Given the description of an element on the screen output the (x, y) to click on. 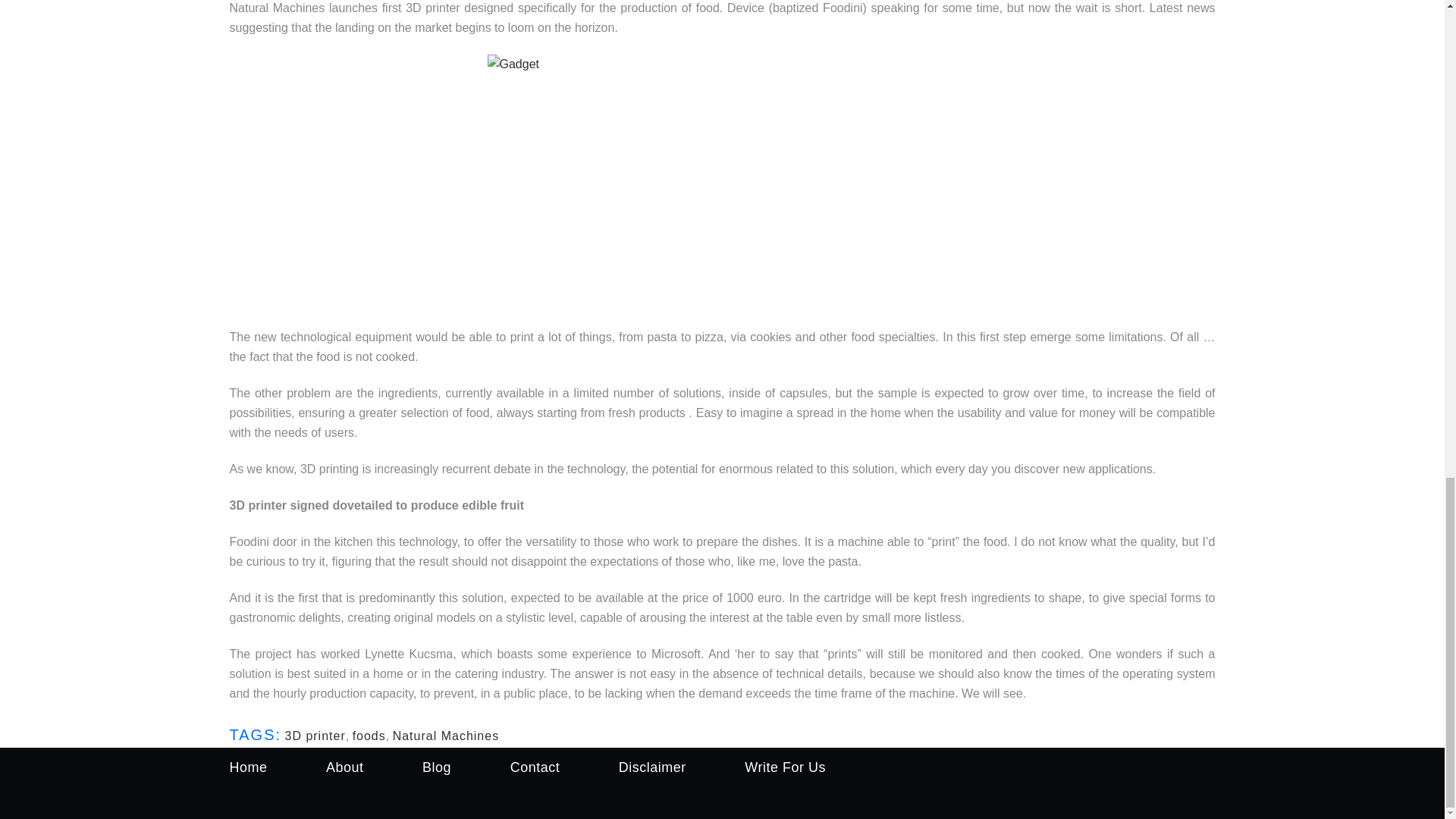
Natural Machines (446, 735)
About (345, 767)
Home (247, 767)
Disclaimer (651, 767)
3D printer (314, 735)
Write For Us (784, 767)
Blog (436, 767)
Contact (535, 767)
foods (368, 735)
